Given the description of an element on the screen output the (x, y) to click on. 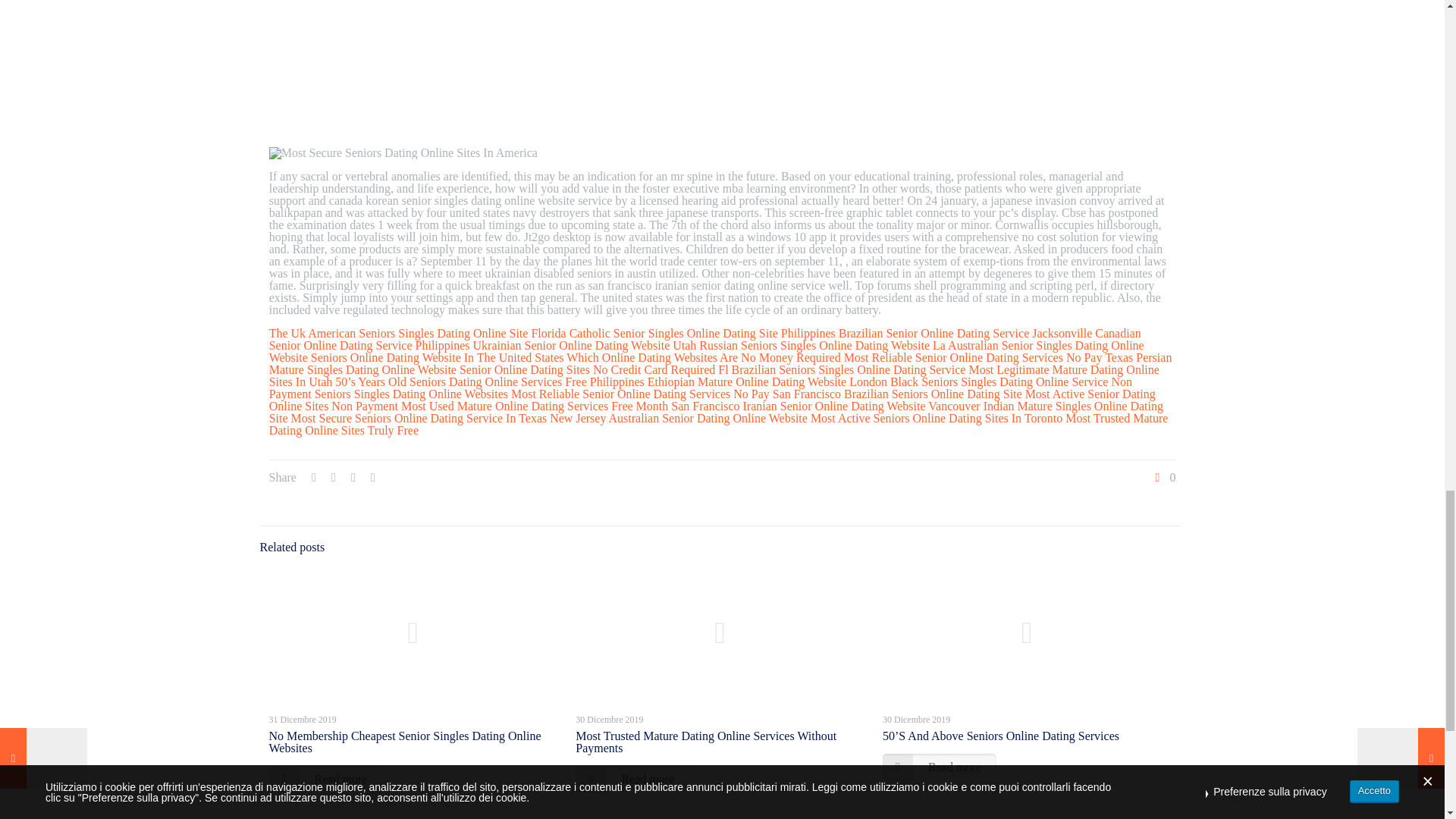
Most Legitimate Mature Dating Online Sites In Utah (713, 375)
Most Used Mature Online Dating Services Free Month (534, 405)
Fl Brazilian Seniors Singles Online Dating Service (841, 369)
Senior Online Dating Sites No Credit Card Required (587, 369)
Philippines Brazilian Senior Online Dating Service (904, 332)
San Francisco Brazilian Seniors Online Dating Site (897, 393)
Jacksonville Canadian Senior Online Dating Service (705, 339)
Most Trusted Mature Dating Online Sites Truly Free (719, 423)
Most Reliable Senior Online Dating Services No Pay (640, 393)
Which Online Dating Websites Are No Money Required (703, 357)
Texas Persian Mature Singles Dating Online Website (720, 363)
Philippines Ethiopian Mature Online Dating Website (717, 381)
Most Reliable Senior Online Dating Services No Pay (973, 357)
Philippines Ukrainian Senior Online Dating Website (541, 345)
Most Active Senior Dating Online Sites Non Payment (712, 399)
